Given the description of an element on the screen output the (x, y) to click on. 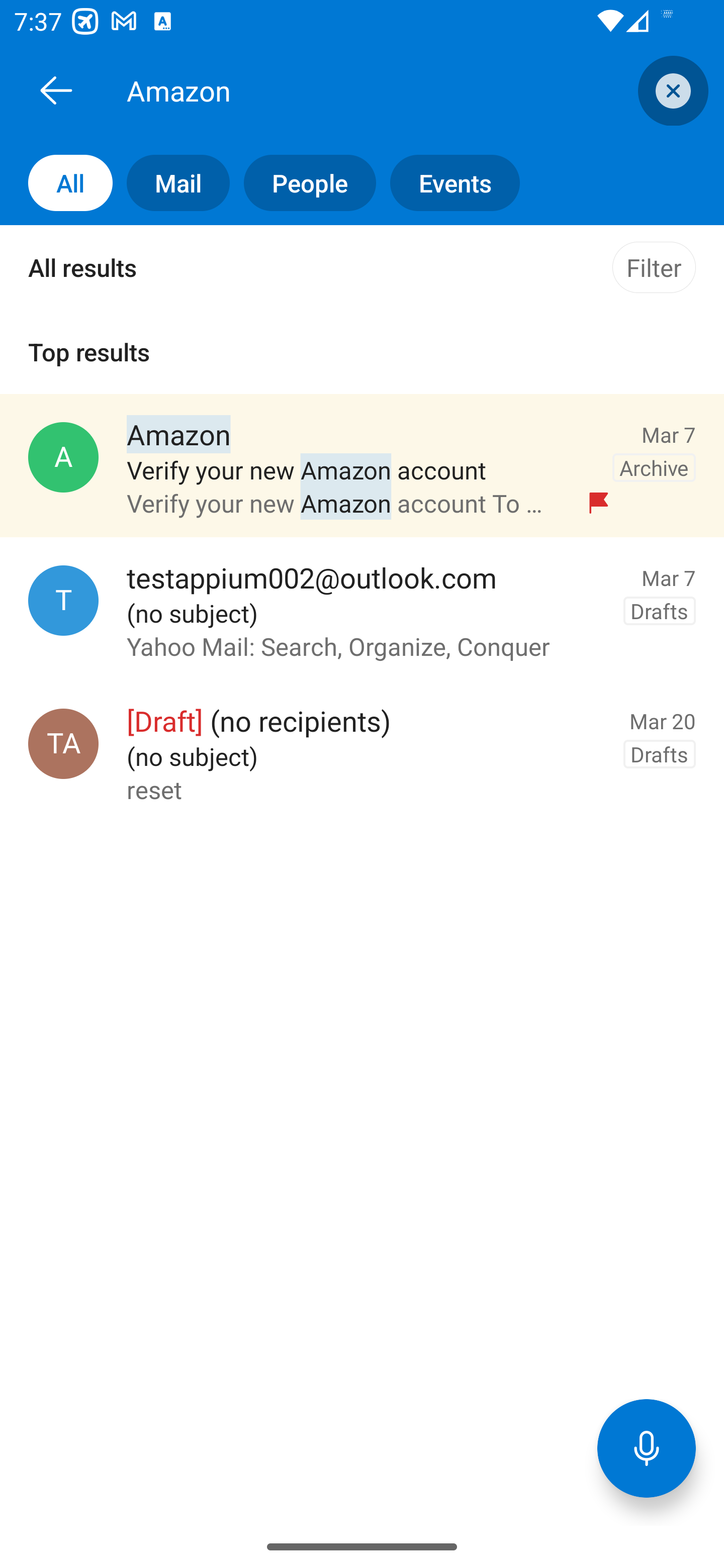
Back (55, 89)
Amazon (384, 89)
clear search (670, 90)
Mail (170, 183)
People (302, 183)
Events (447, 183)
Filter (653, 267)
Voice Assistant (646, 1447)
